Given the description of an element on the screen output the (x, y) to click on. 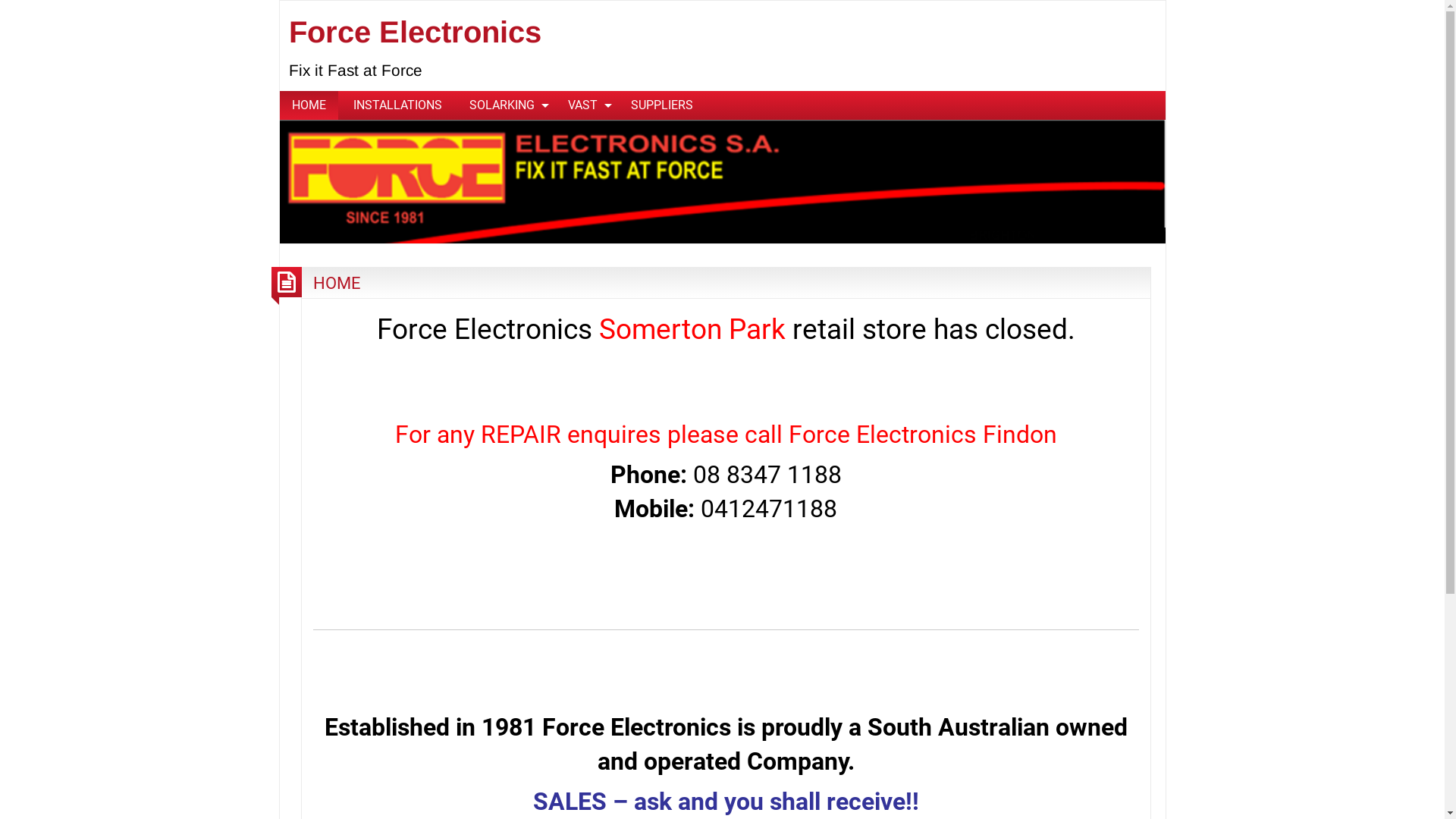
Force Electronics Element type: text (414, 31)
HOME Element type: text (336, 282)
Force Electronics Element type: hover (721, 180)
VAST Element type: text (585, 105)
INSTALLATIONS Element type: text (397, 105)
SUPPLIERS Element type: text (661, 105)
SOLARKING Element type: text (504, 105)
HOME Element type: text (308, 105)
